Given the description of an element on the screen output the (x, y) to click on. 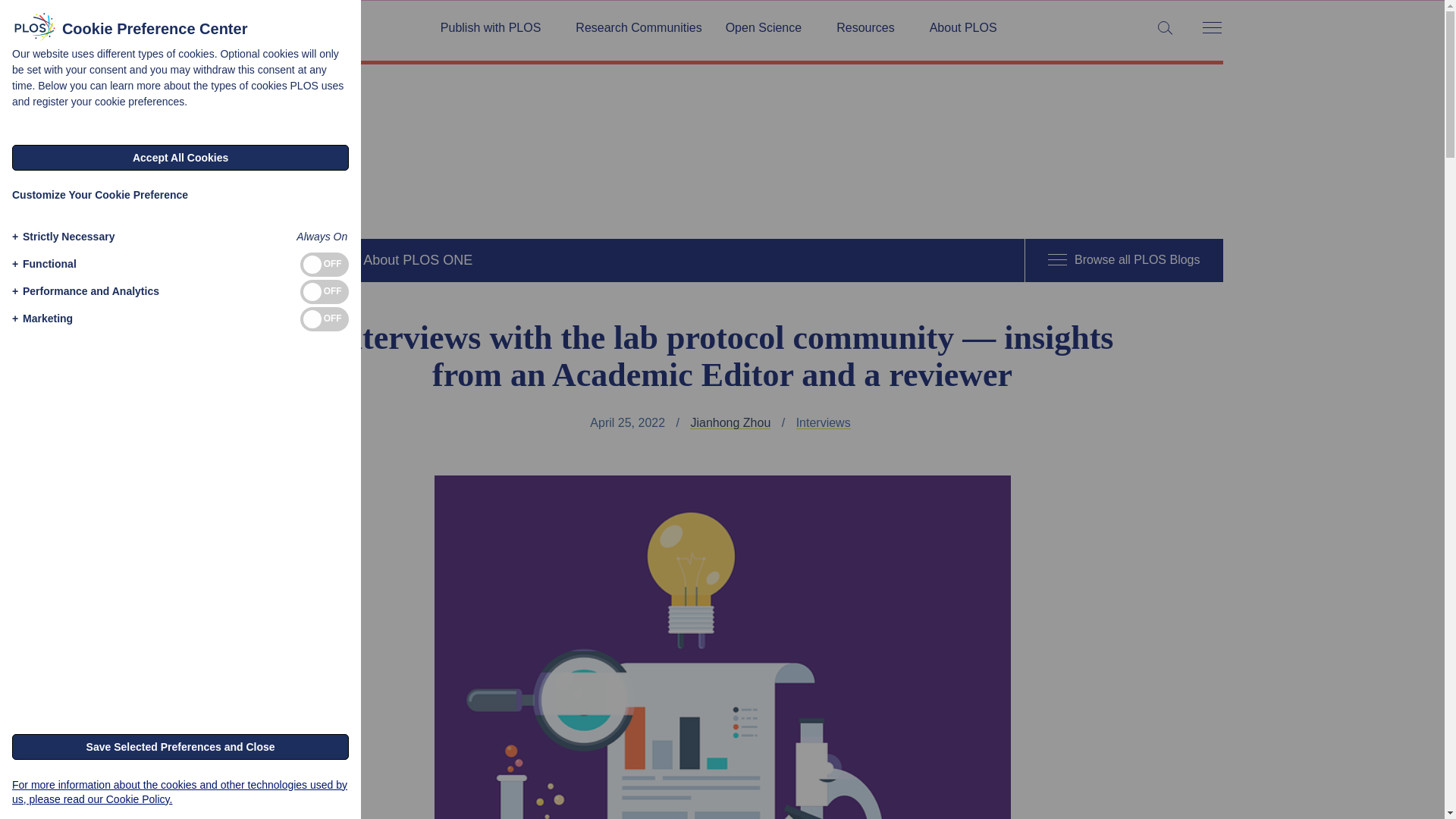
Research Communities (638, 28)
About PLOS (962, 28)
Menu (1211, 28)
Open Science (769, 28)
Search (15, 15)
Resources (870, 28)
Publish with PLOS (496, 28)
